Given the description of an element on the screen output the (x, y) to click on. 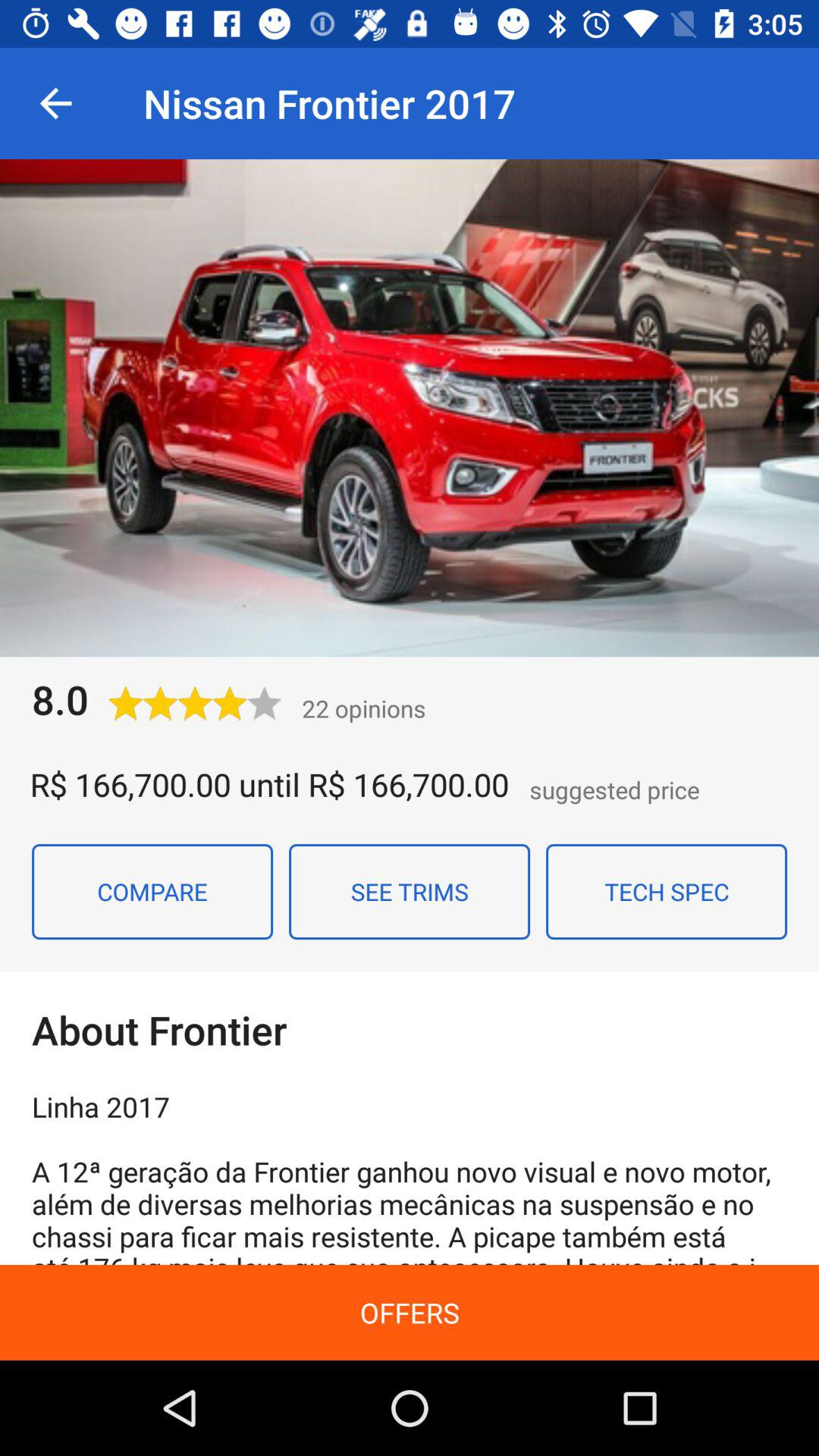
press item next to nissan frontier 2017 item (55, 103)
